Given the description of an element on the screen output the (x, y) to click on. 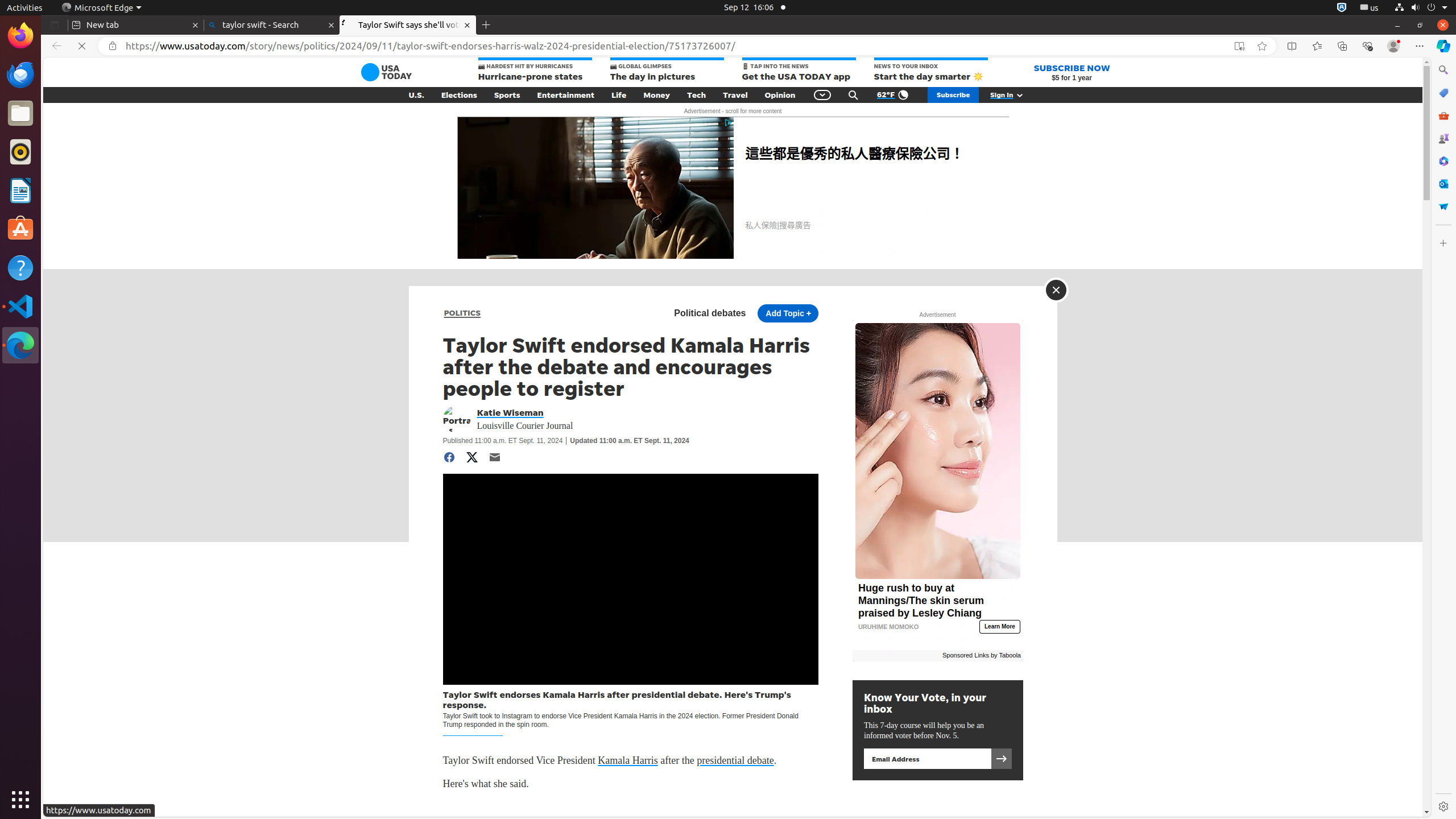
📷 HARDEST HIT BY HURRICANES Hurricane-prone states Element type: link (534, 70)
Portrait of Katie Wiseman Katie Wiseman Element type: link (522, 412)
Copilot (Ctrl+Shift+.) Element type: push-button (1443, 45)
Files Element type: push-button (20, 113)
Profile 1 Profile, Please sign in Element type: push-button (1392, 46)
